Given the description of an element on the screen output the (x, y) to click on. 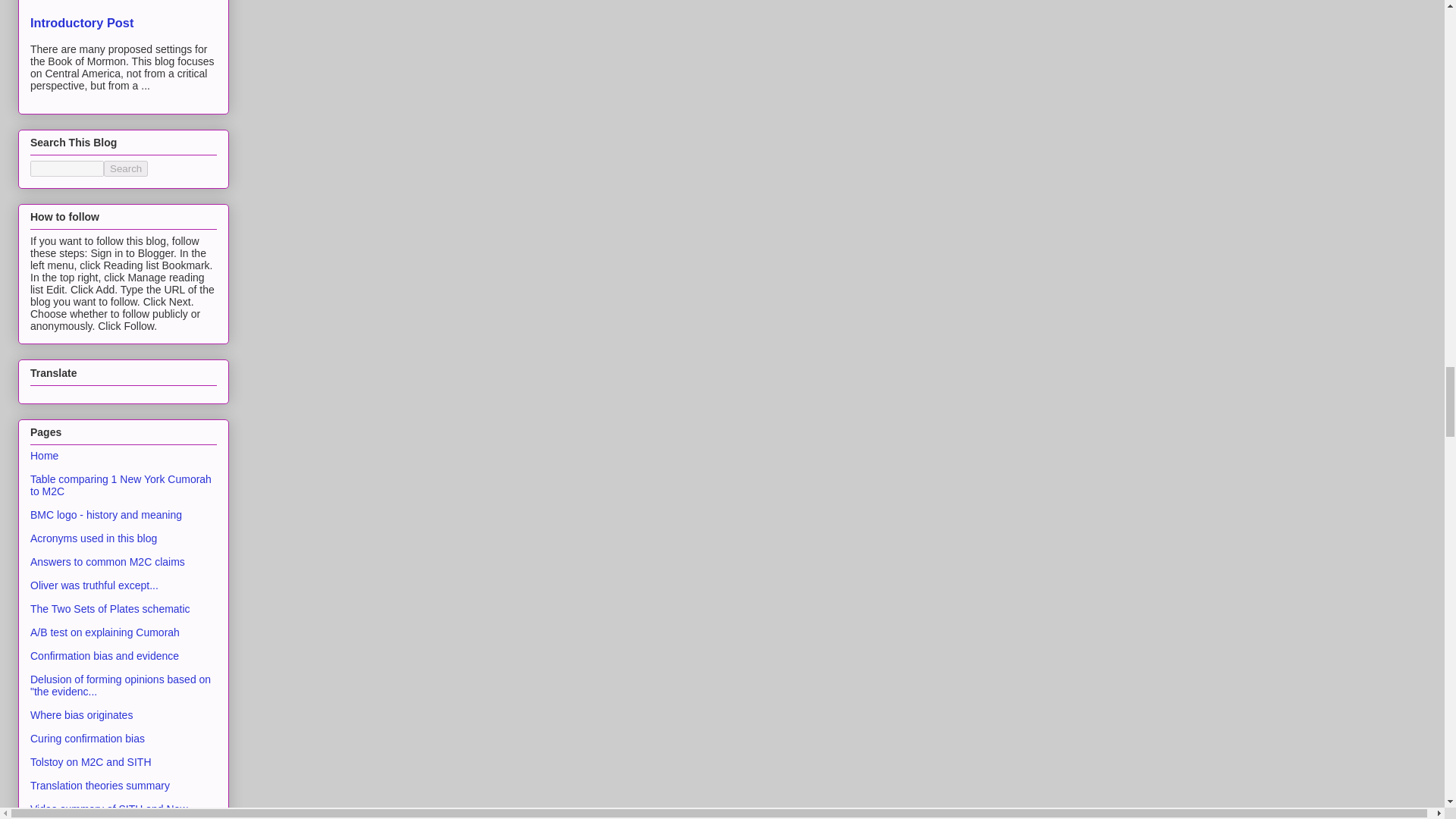
The Two Sets of Plates schematic (110, 608)
search (66, 168)
Search (125, 168)
Answers to common M2C claims (107, 562)
Home (44, 455)
Search (125, 168)
Introductory Post (81, 22)
Acronyms used in this blog (93, 538)
Search (125, 168)
Oliver was truthful except... (94, 585)
Confirmation bias and evidence (104, 655)
Table comparing 1 New York Cumorah to M2C (120, 485)
BMC logo - history and meaning (106, 514)
search (125, 168)
